Given the description of an element on the screen output the (x, y) to click on. 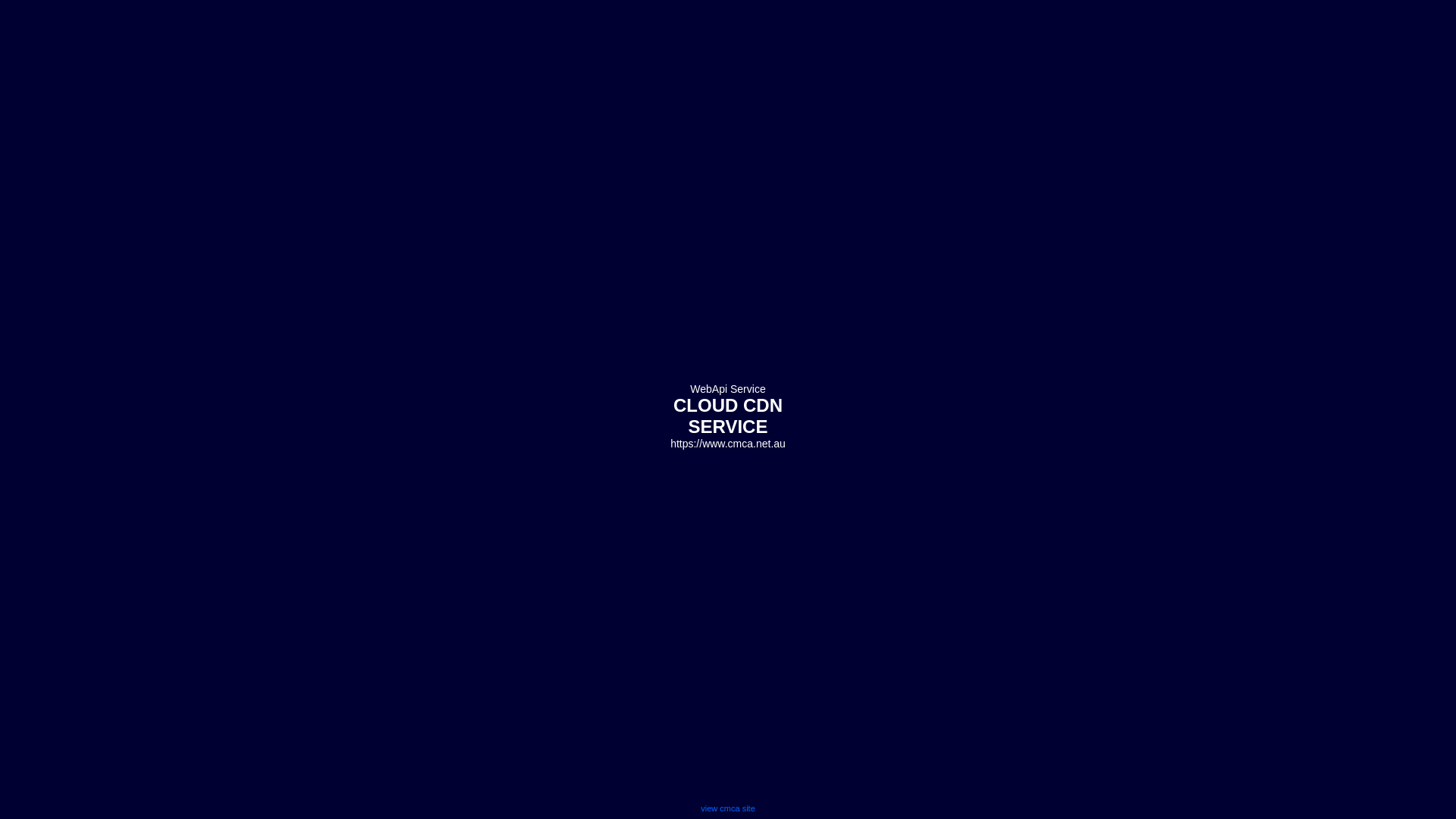
view cmca site Element type: text (727, 807)
